Given the description of an element on the screen output the (x, y) to click on. 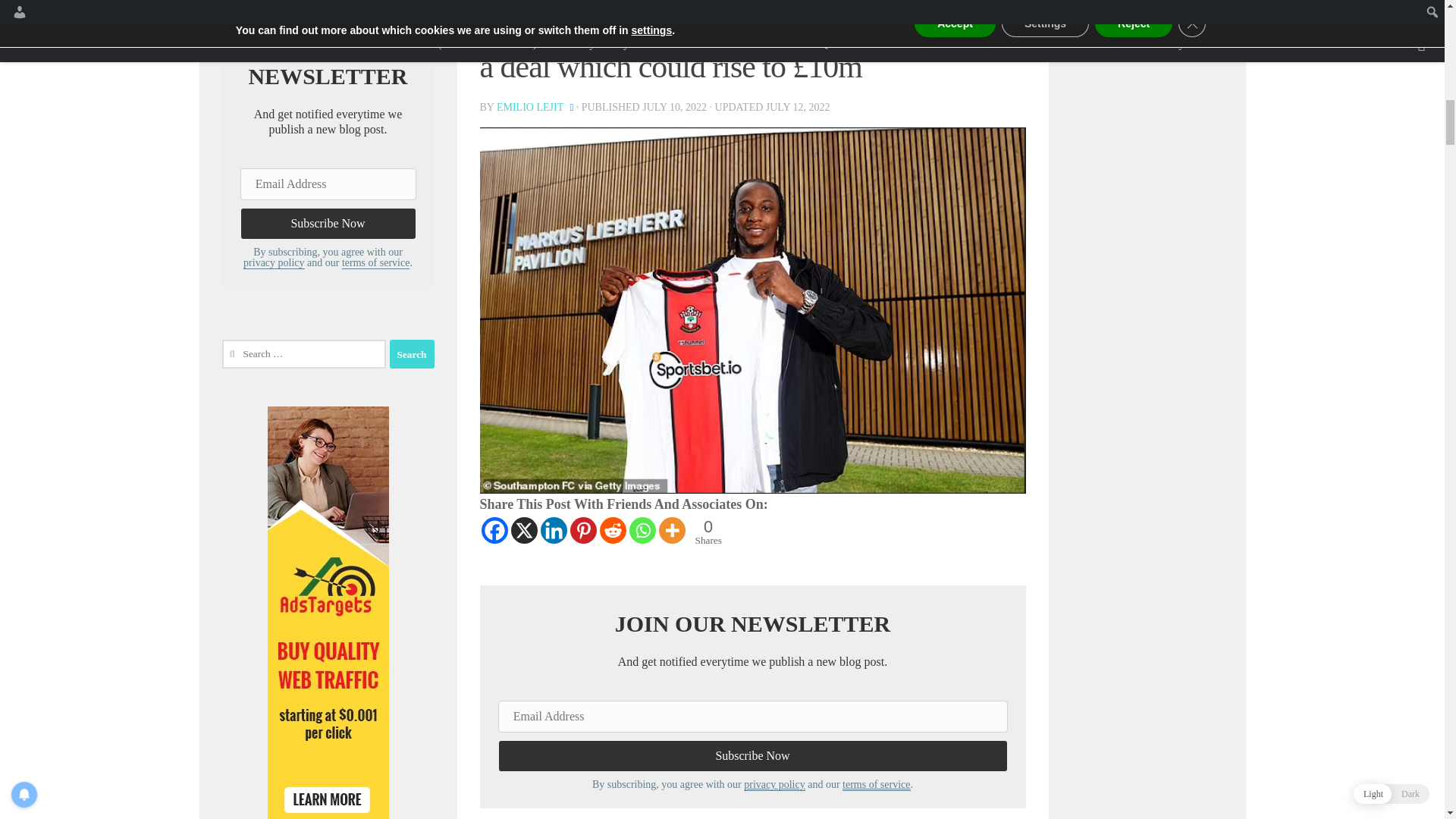
Reddit (612, 529)
Search (411, 353)
Subscribe Now (327, 223)
Subscribe Now (752, 756)
X (524, 529)
Search (1200, 7)
Posts by EMILIO LEJIT (529, 107)
Facebook (493, 529)
Linkedin (553, 529)
Search (411, 353)
Pinterest (583, 529)
Search (1200, 7)
